Given the description of an element on the screen output the (x, y) to click on. 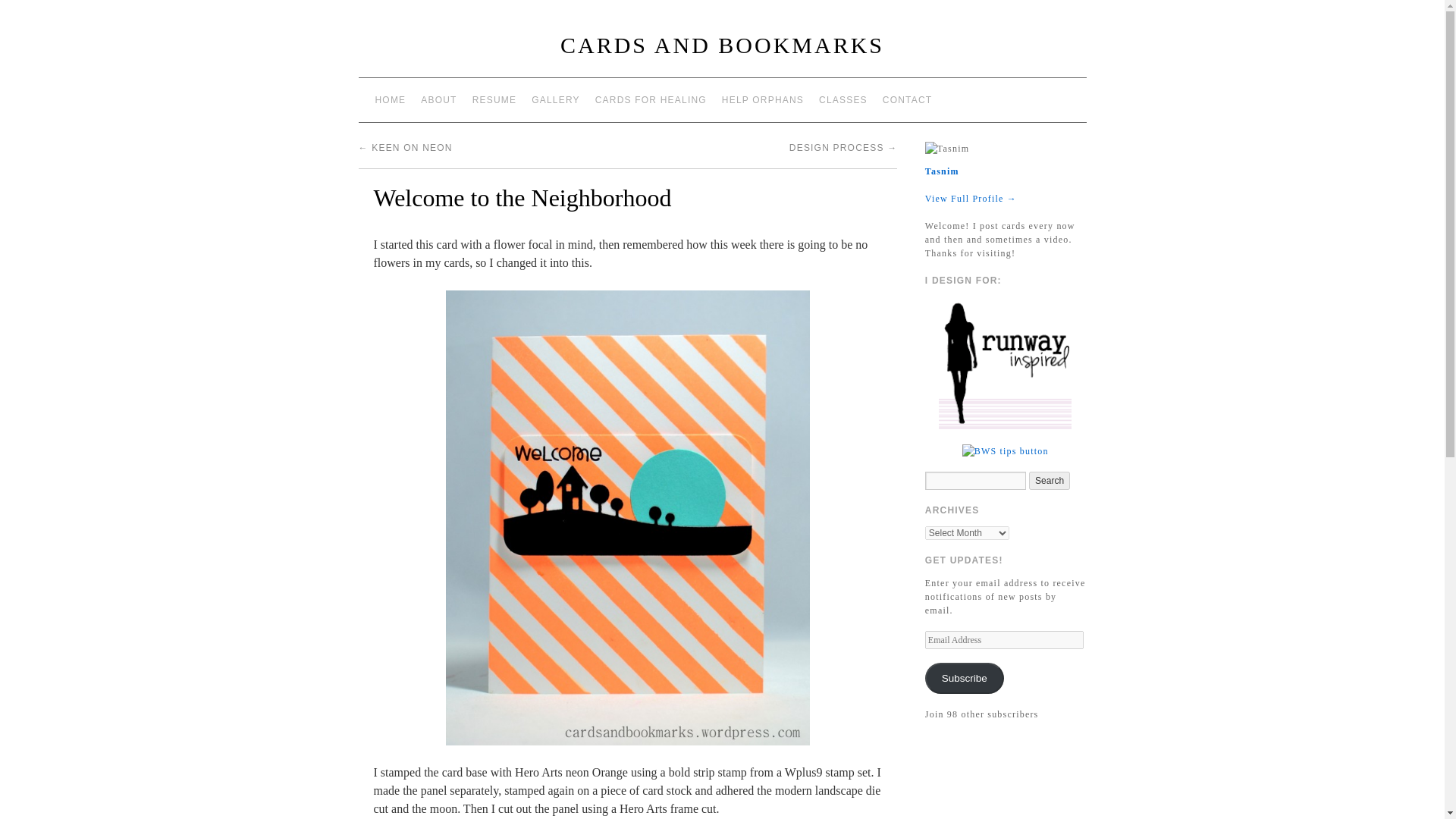
RESUME (494, 99)
GALLERY (556, 99)
CLASSES (842, 99)
CARDS AND BOOKMARKS (721, 44)
Tasnim (941, 171)
Cards and Bookmarks (721, 44)
HOME (389, 99)
CARDS FOR HEALING (651, 99)
Search (1049, 480)
Subscribe (964, 677)
Search (1049, 480)
CONTACT (907, 99)
HELP ORPHANS (762, 99)
ABOUT (438, 99)
